Given the description of an element on the screen output the (x, y) to click on. 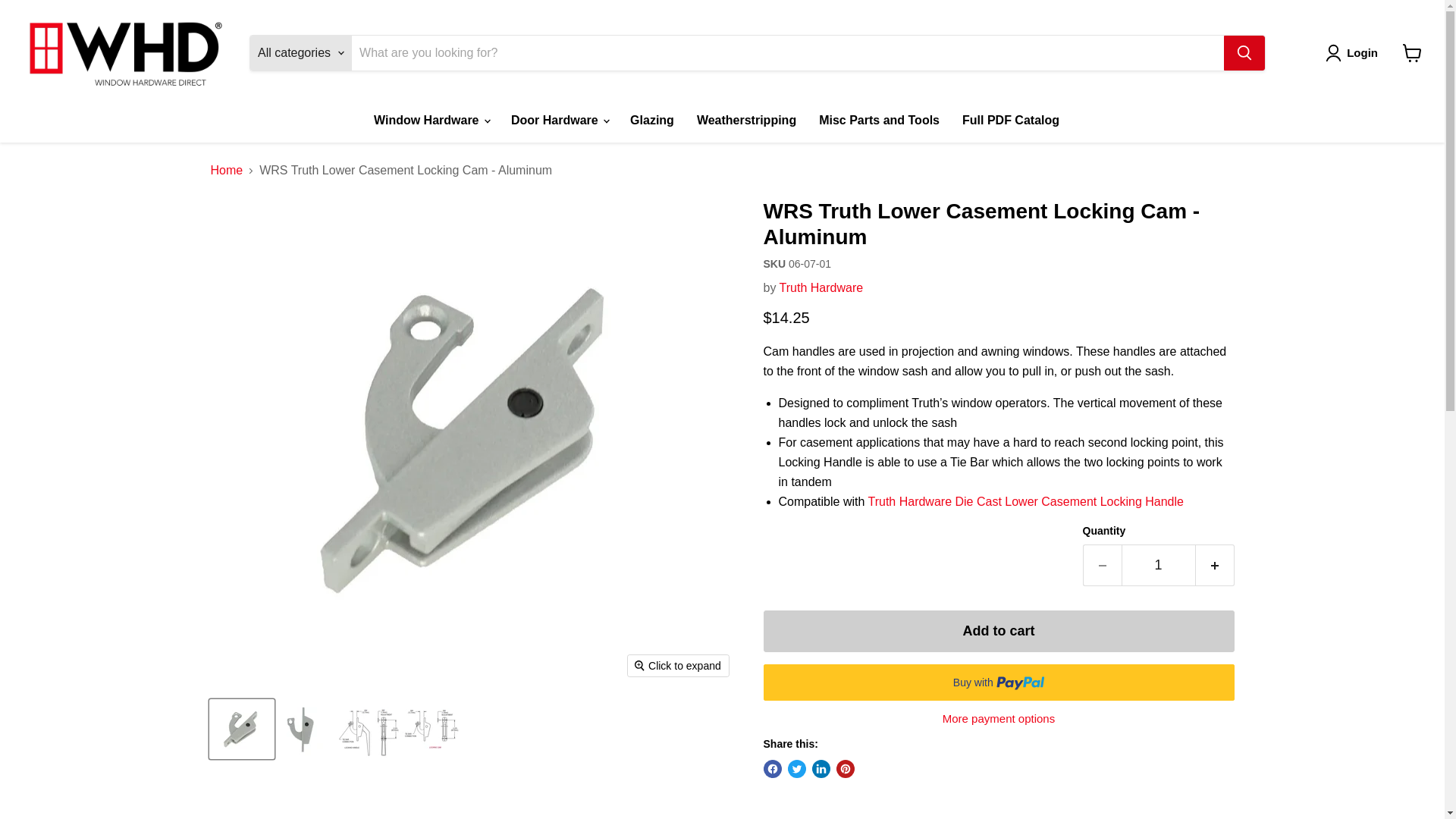
1 (1158, 565)
View cart (1411, 52)
Login (1354, 53)
Truth Hardware (820, 287)
